Given the description of an element on the screen output the (x, y) to click on. 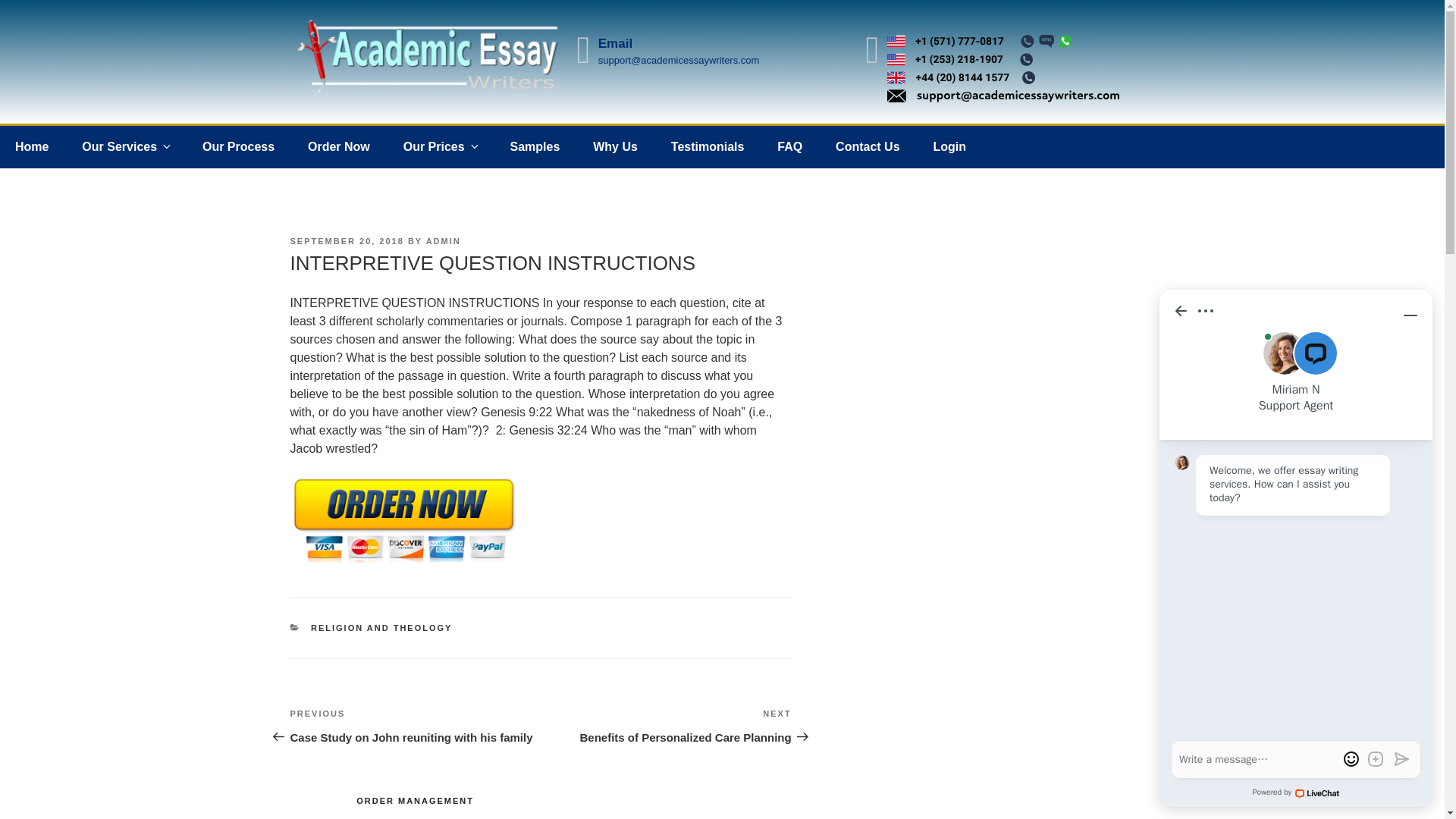
Click to Order (402, 562)
Testimonials (708, 147)
Our Prices (440, 147)
SEPTEMBER 20, 2018 (346, 240)
Login (949, 147)
Home (32, 147)
Our Services (125, 147)
Samples (535, 147)
FAQ (788, 147)
Contact Us (867, 147)
RELIGION AND THEOLOGY (381, 627)
Why Us (615, 147)
Order Now (338, 147)
Our Process (238, 147)
